Given the description of an element on the screen output the (x, y) to click on. 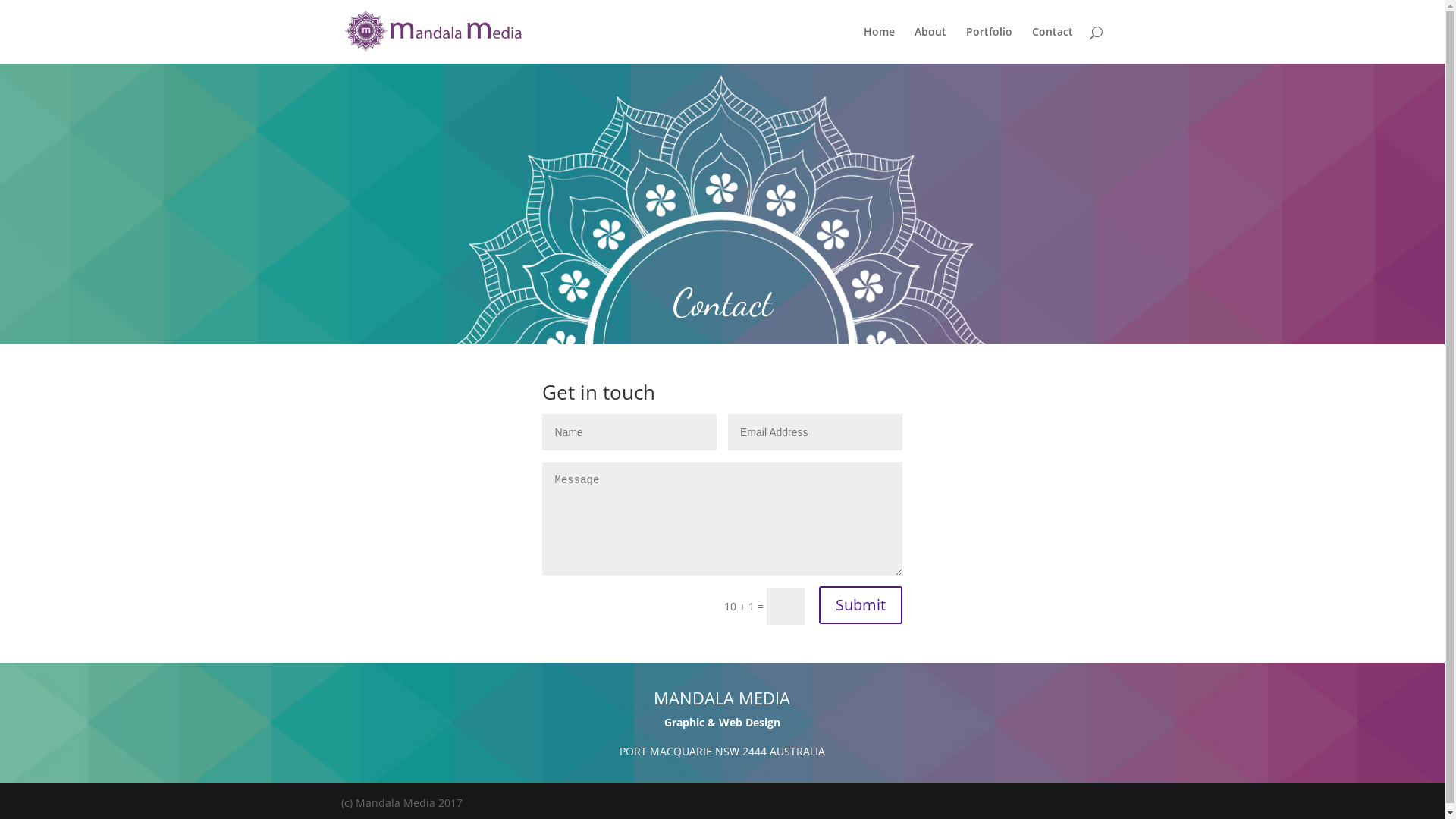
MANDALA MEDIA Element type: text (721, 697)
About Element type: text (930, 44)
Portfolio Element type: text (989, 44)
Home Element type: text (878, 44)
Contact Element type: text (1052, 44)
Submit Element type: text (860, 605)
